Given the description of an element on the screen output the (x, y) to click on. 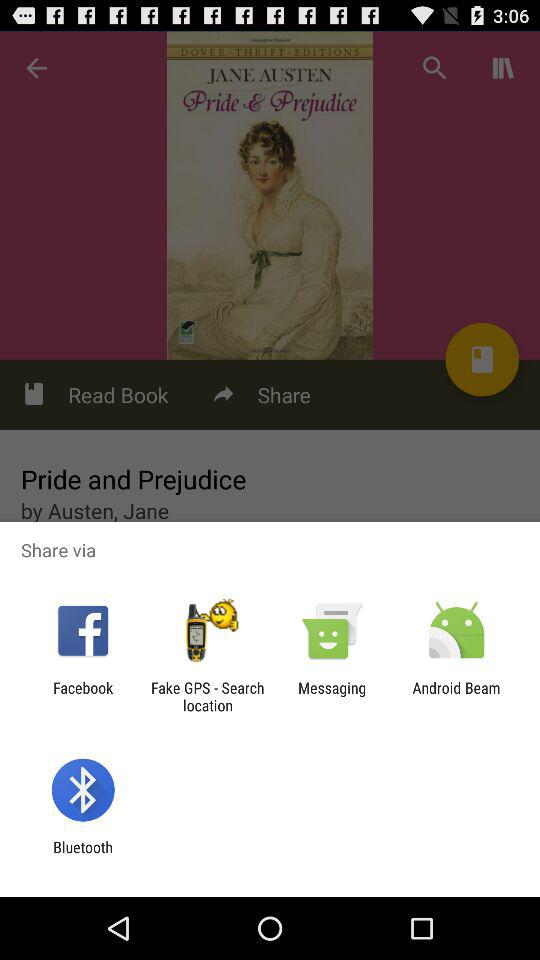
open icon to the right of facebook item (207, 696)
